Given the description of an element on the screen output the (x, y) to click on. 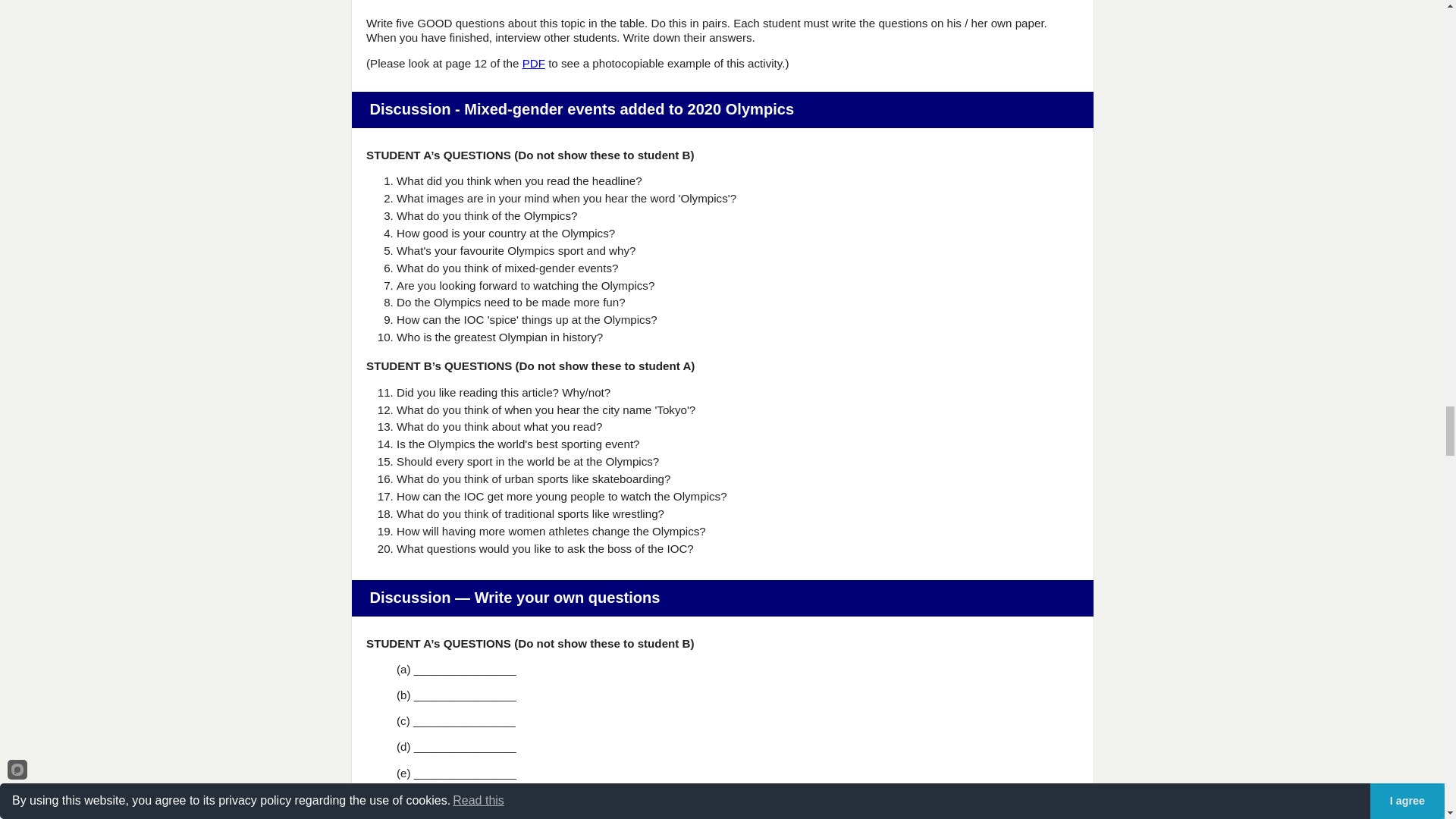
PDF (533, 62)
